Given the description of an element on the screen output the (x, y) to click on. 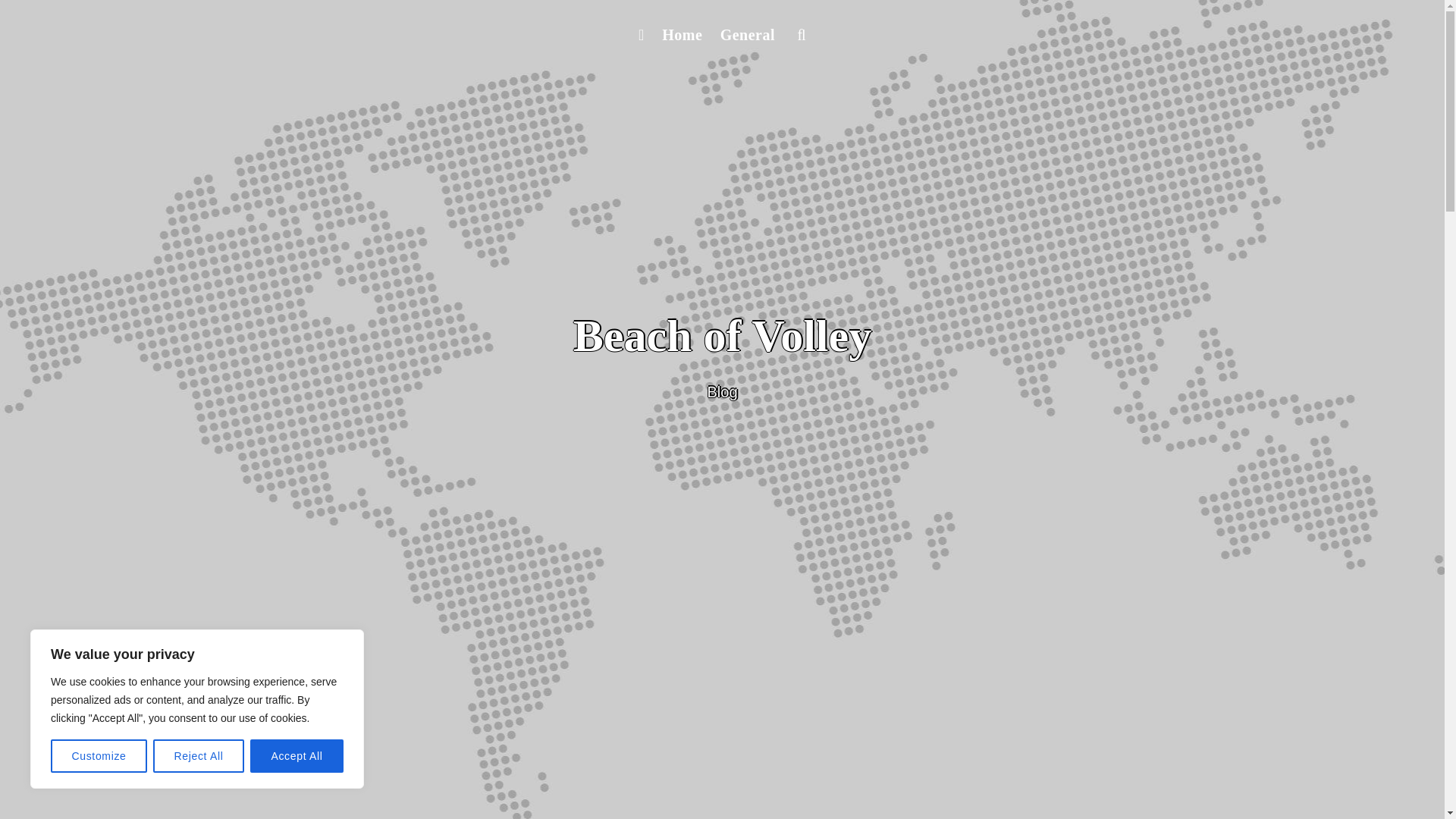
Beach of Volley (721, 336)
Reject All (198, 756)
General (747, 35)
Customize (98, 756)
Accept All (296, 756)
Home (681, 35)
